Given the description of an element on the screen output the (x, y) to click on. 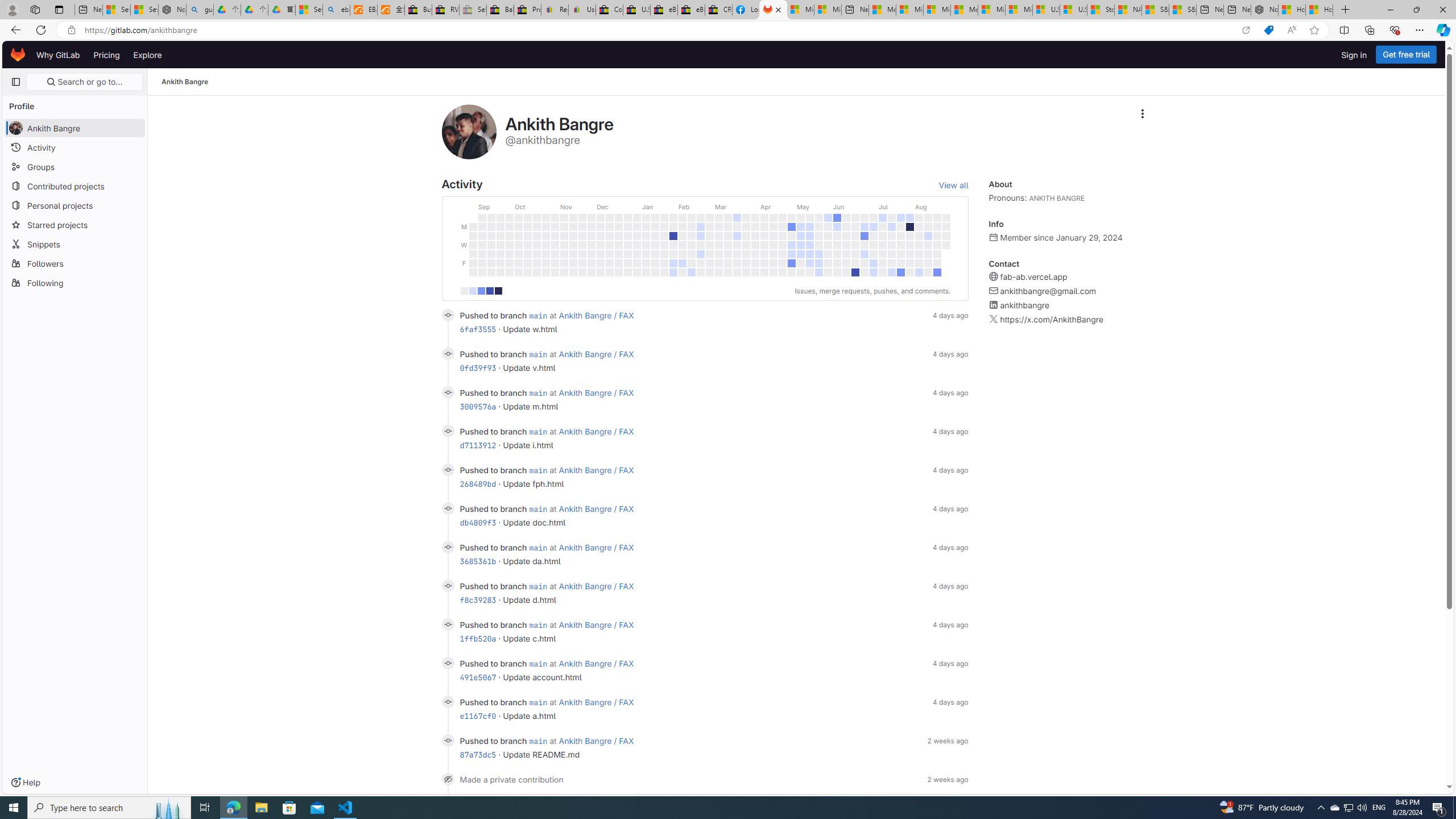
Consumer Health Data Privacy Policy - eBay Inc. (609, 9)
Refresh (40, 29)
Followers (74, 262)
